Given the description of an element on the screen output the (x, y) to click on. 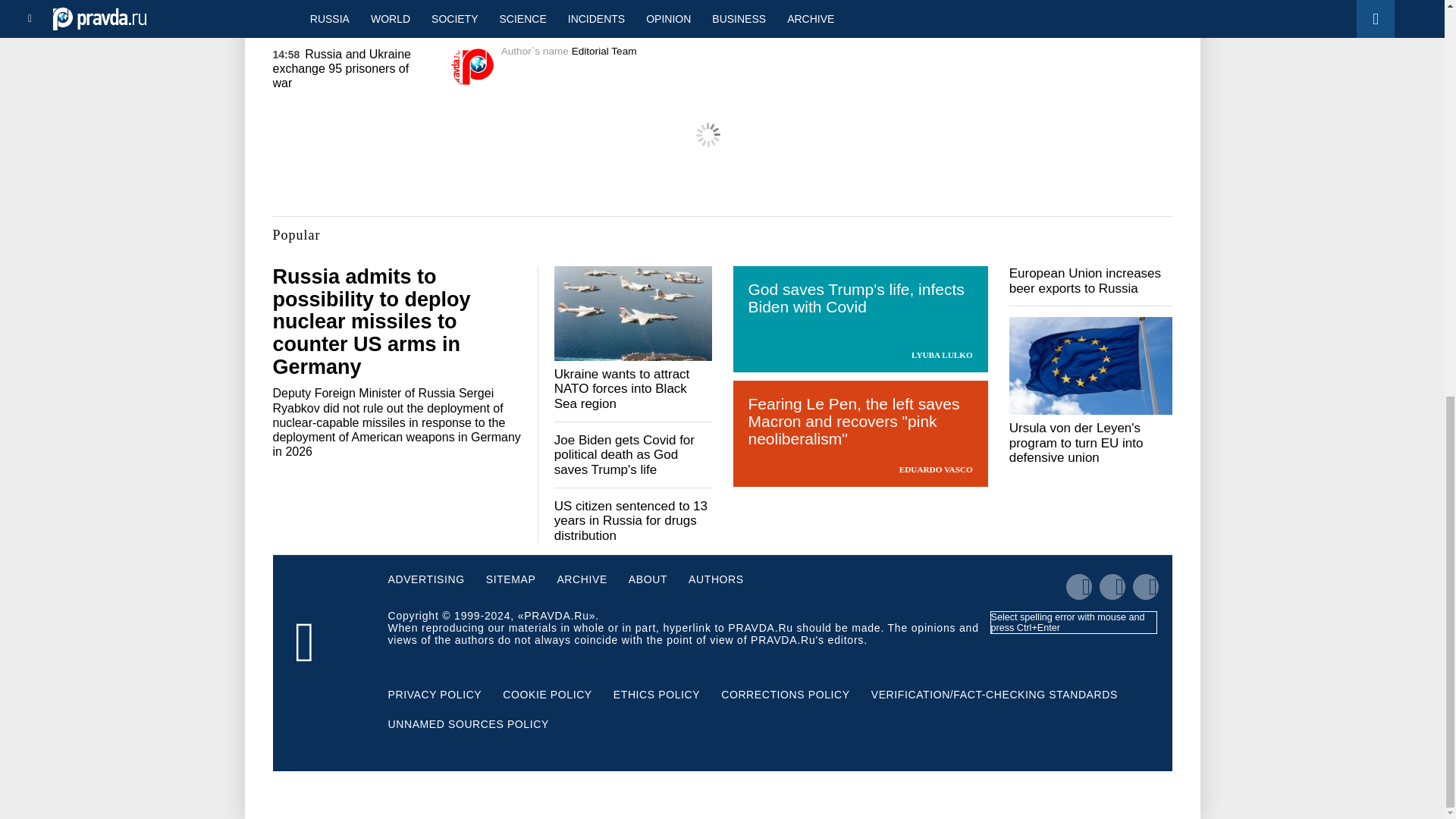
Russia and Ukraine exchange 95 prisoners of war (341, 68)
Telegram channel (652, 14)
Back to top (1418, 130)
Facebook (744, 14)
RSS (795, 14)
